Given the description of an element on the screen output the (x, y) to click on. 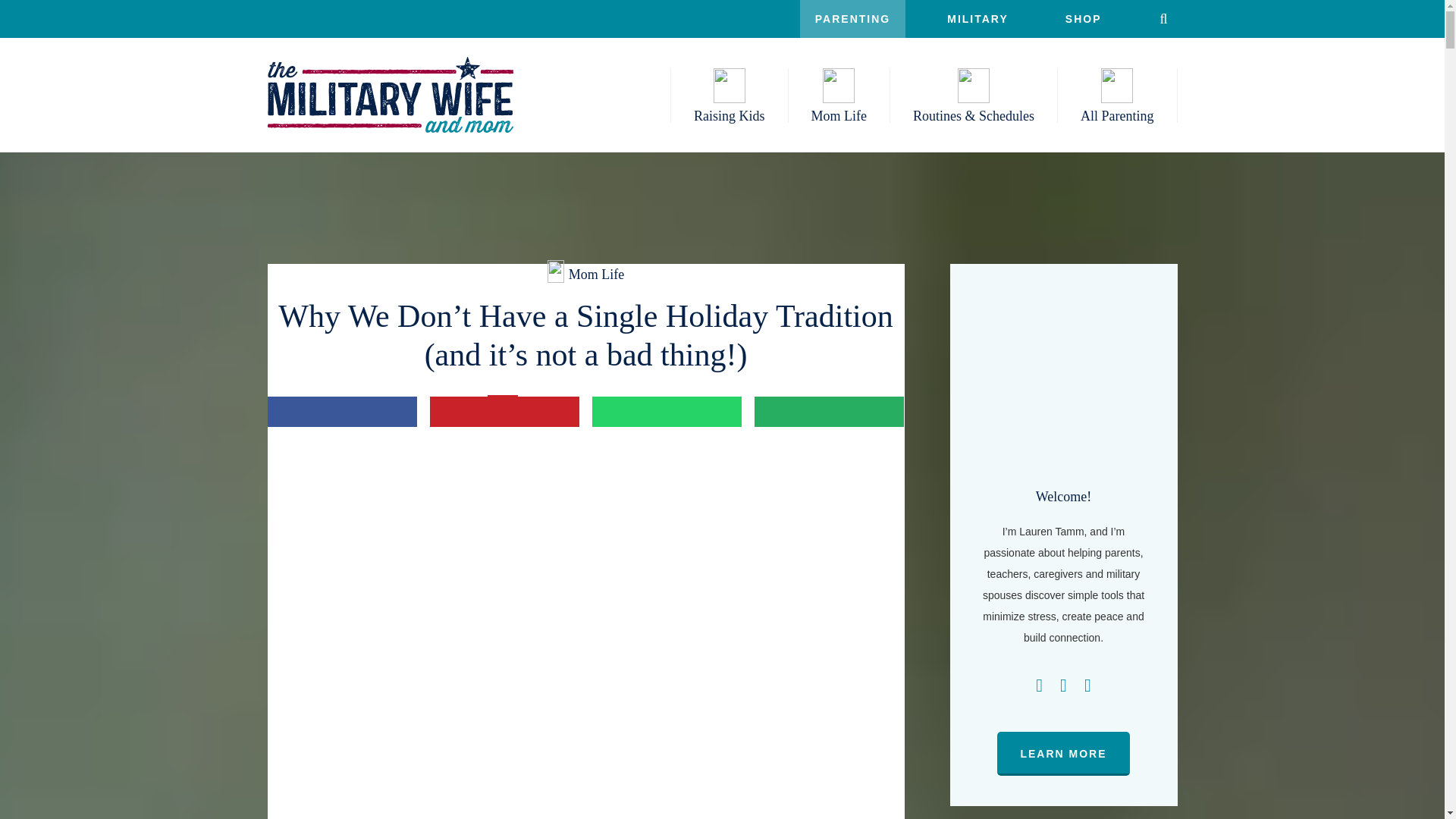
Mom Life (839, 94)
Send over email (829, 411)
Raising Kids (729, 94)
MILITARY (977, 18)
Share on Facebook (341, 411)
Save to Pinterest (504, 411)
All Parenting (1117, 94)
All Parenting (1117, 94)
Mom Life (839, 94)
